Given the description of an element on the screen output the (x, y) to click on. 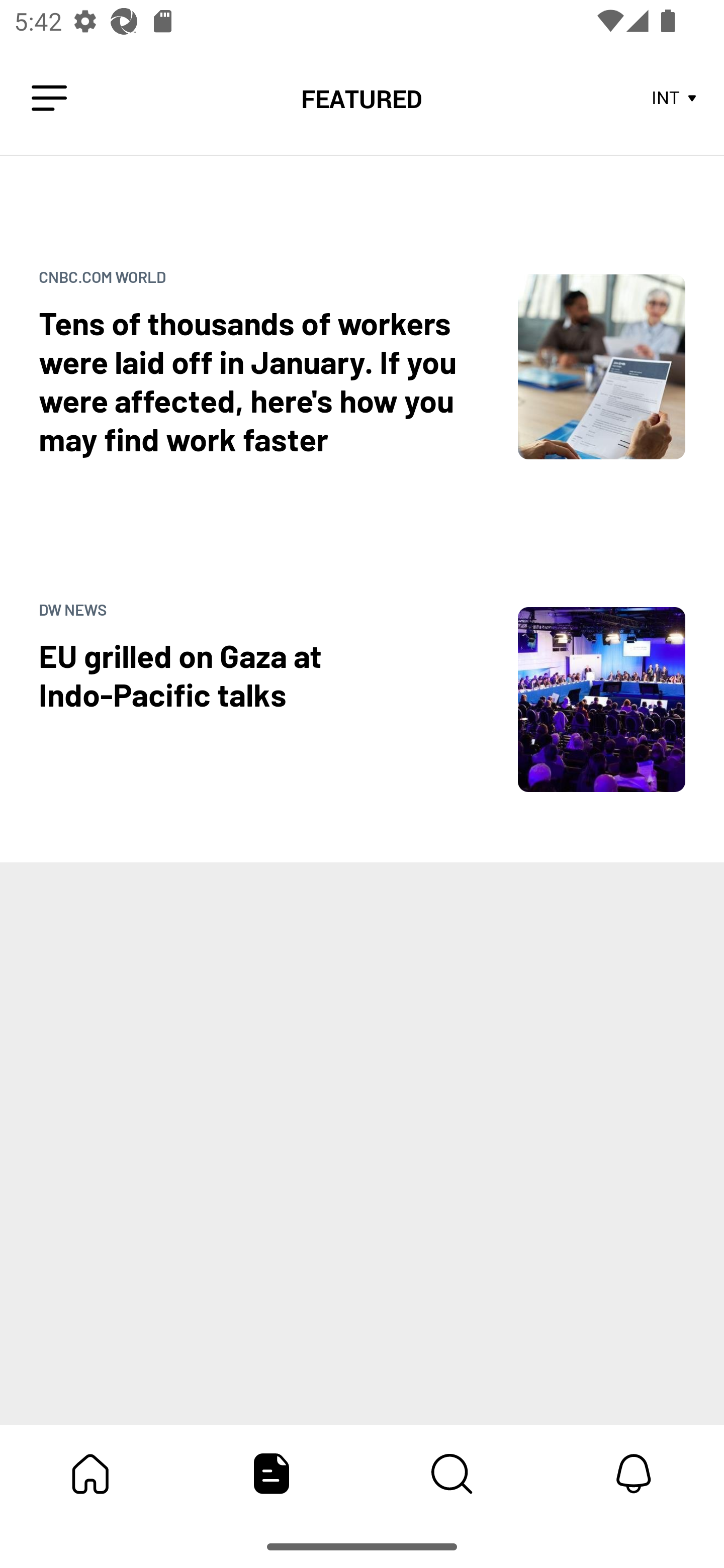
INT Store Area (674, 98)
Leading Icon (49, 98)
My Bundle (90, 1473)
Content Store (452, 1473)
Notifications (633, 1473)
